Given the description of an element on the screen output the (x, y) to click on. 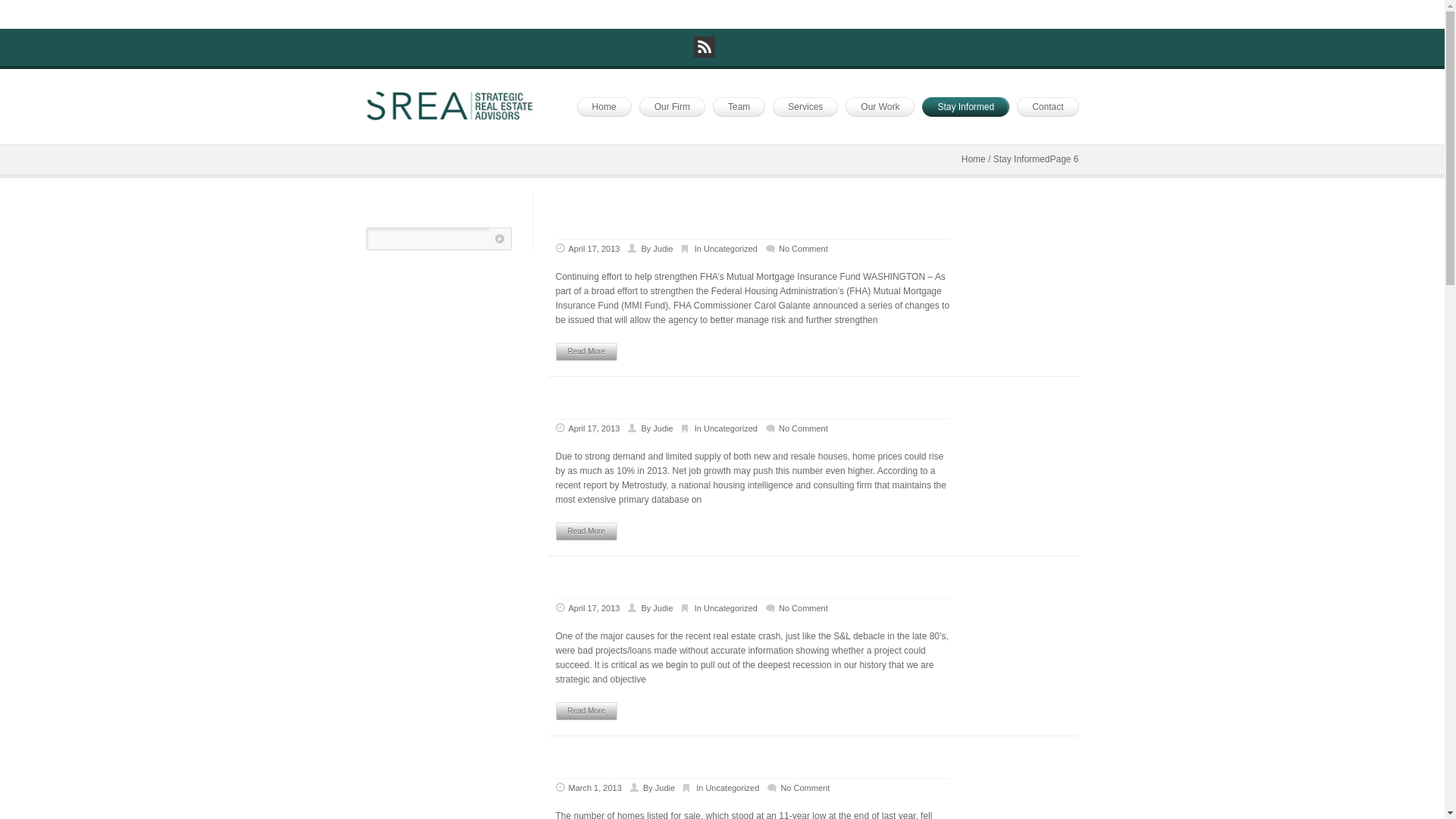
Posts by Judie (662, 248)
Search (500, 238)
The Atlanta Housing Market is on the Rise (684, 400)
Housing Inventory, Already Low, Dropped Further in January (737, 760)
RSS (703, 46)
Home (603, 107)
Uncategorized (730, 248)
Our Firm (671, 107)
Team (739, 107)
ALL REAL ESTATE MARKET STUDIES ARE NOT CREATED EQUAL (750, 580)
FHA TAKES ADDITIONAL STEPS TO BOLSTER CAPITAL RESERVES (723, 211)
SREA (448, 105)
Contact (1047, 107)
Posts by Judie (662, 607)
Our Work (879, 107)
